Given the description of an element on the screen output the (x, y) to click on. 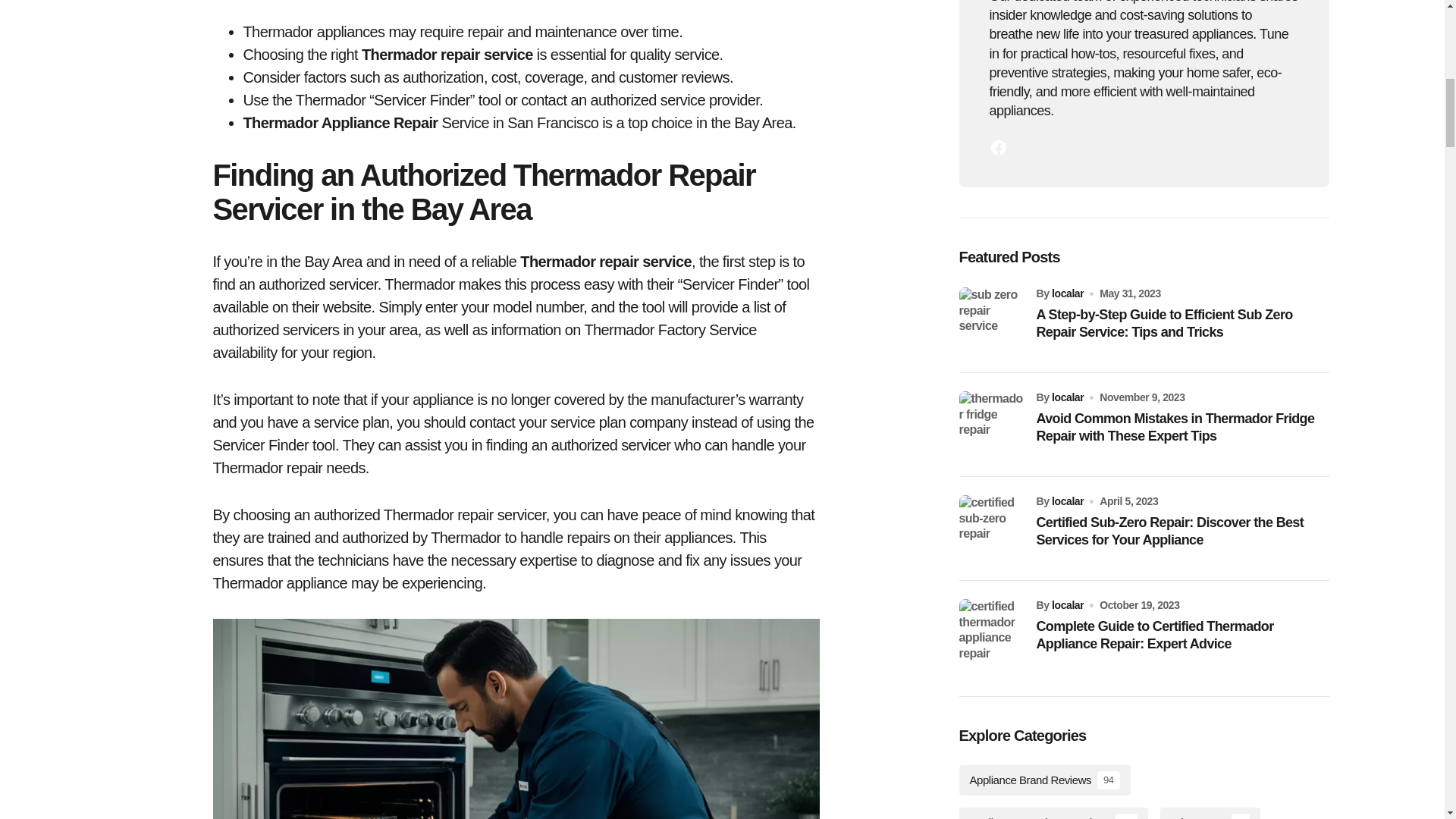
Facebook (997, 147)
bay area thermador repair (515, 719)
